Given the description of an element on the screen output the (x, y) to click on. 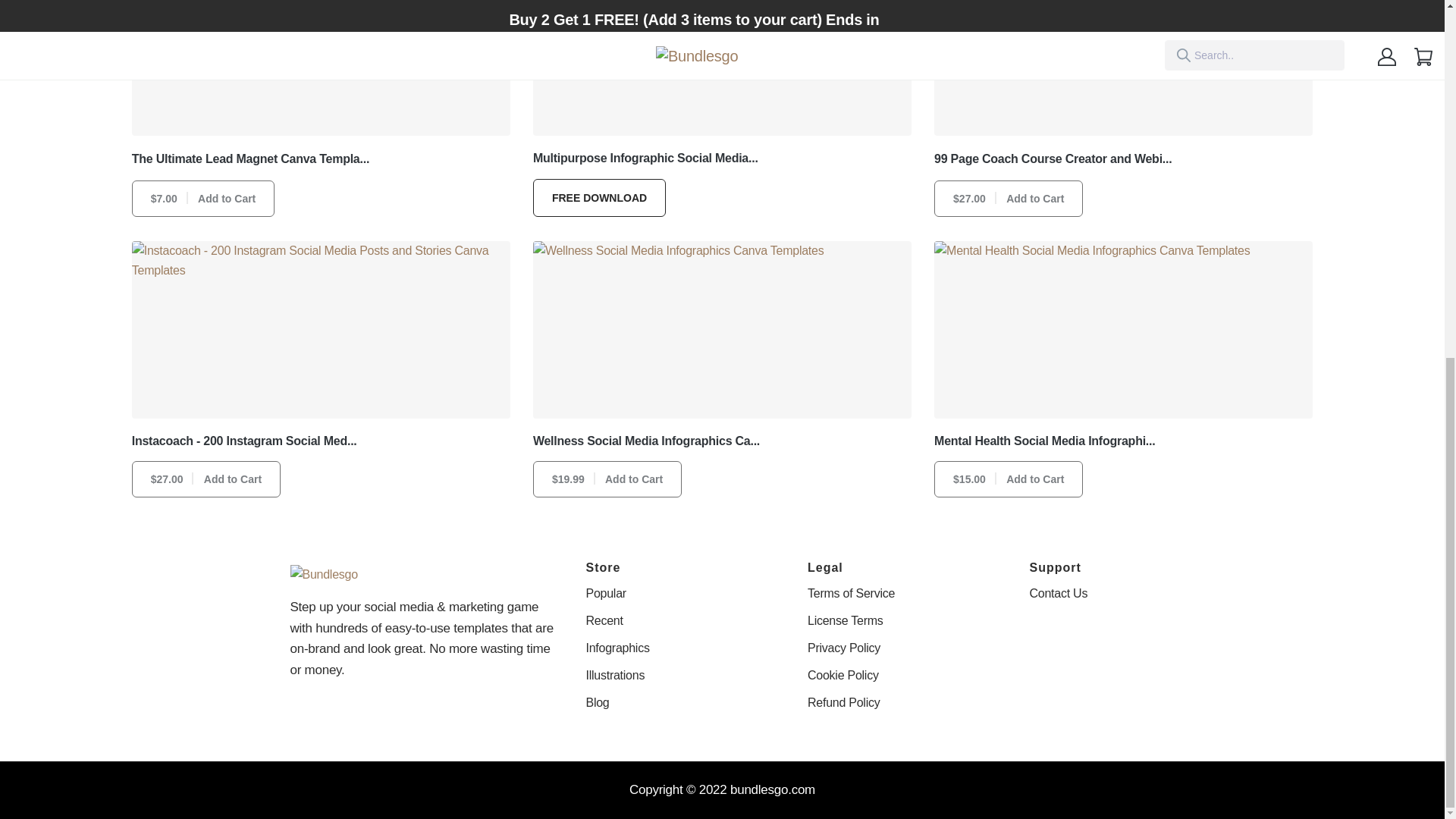
View Wellness Social Media Infographics Canva Templates (721, 329)
View Mental Health Social Media Infographics Canva Templates (1123, 329)
FREE DOWNLOAD (598, 198)
99 Page Coach Course Creator and Webi... (1053, 159)
Mental Health Social Media Infographi... (1044, 441)
Instacoach - 200 Instagram Social Med... (244, 441)
The Ultimate Lead Magnet Canva Templa... (250, 159)
